Given the description of an element on the screen output the (x, y) to click on. 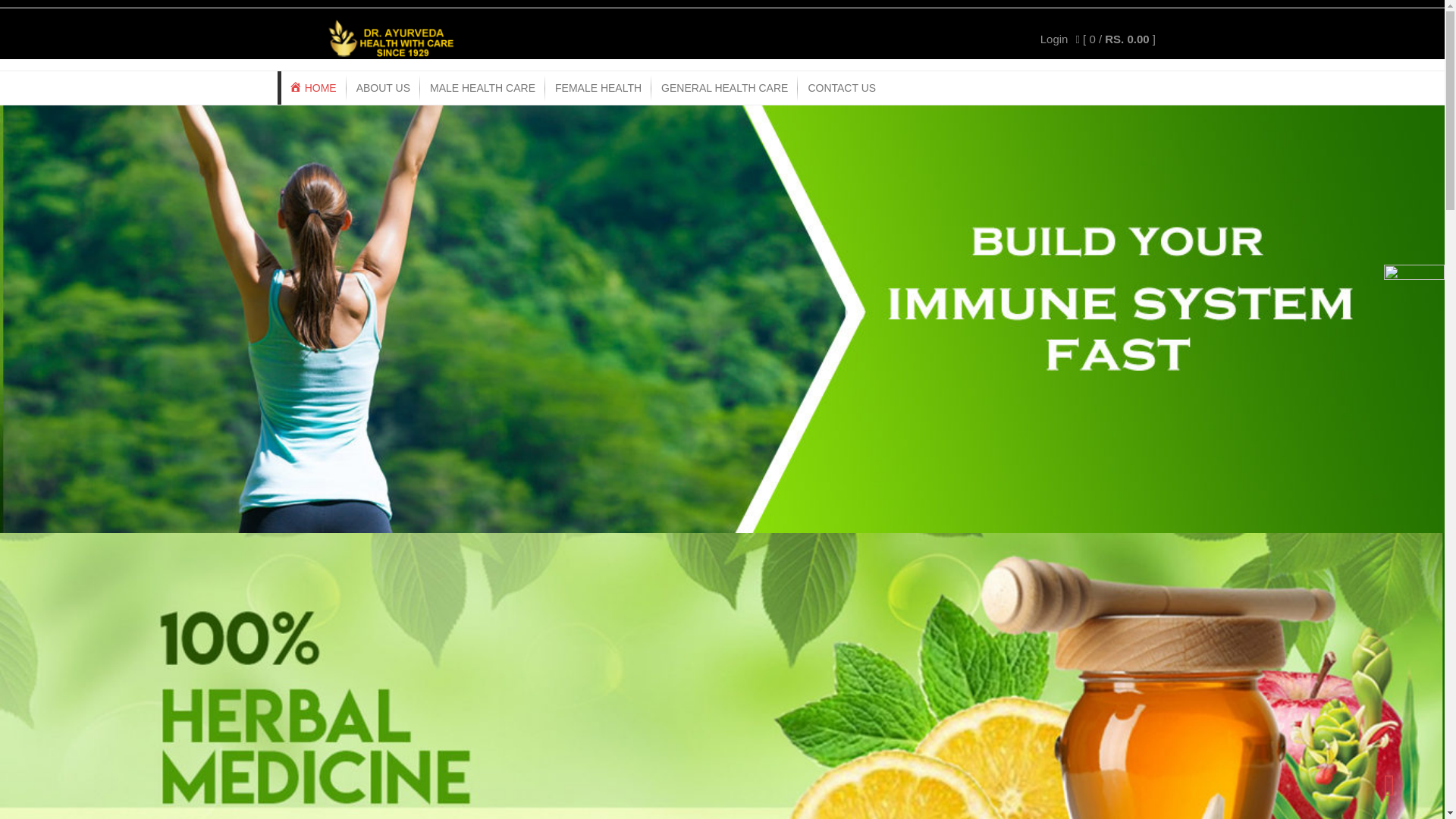
CONTACT US (841, 87)
GENERAL HEALTH CARE (723, 87)
View your shopping cart (1115, 38)
MALE HEALTH CARE (482, 87)
FEMALE HEALTH (597, 87)
ABOUT US (383, 87)
Login (1054, 38)
HOME (312, 87)
